Given the description of an element on the screen output the (x, y) to click on. 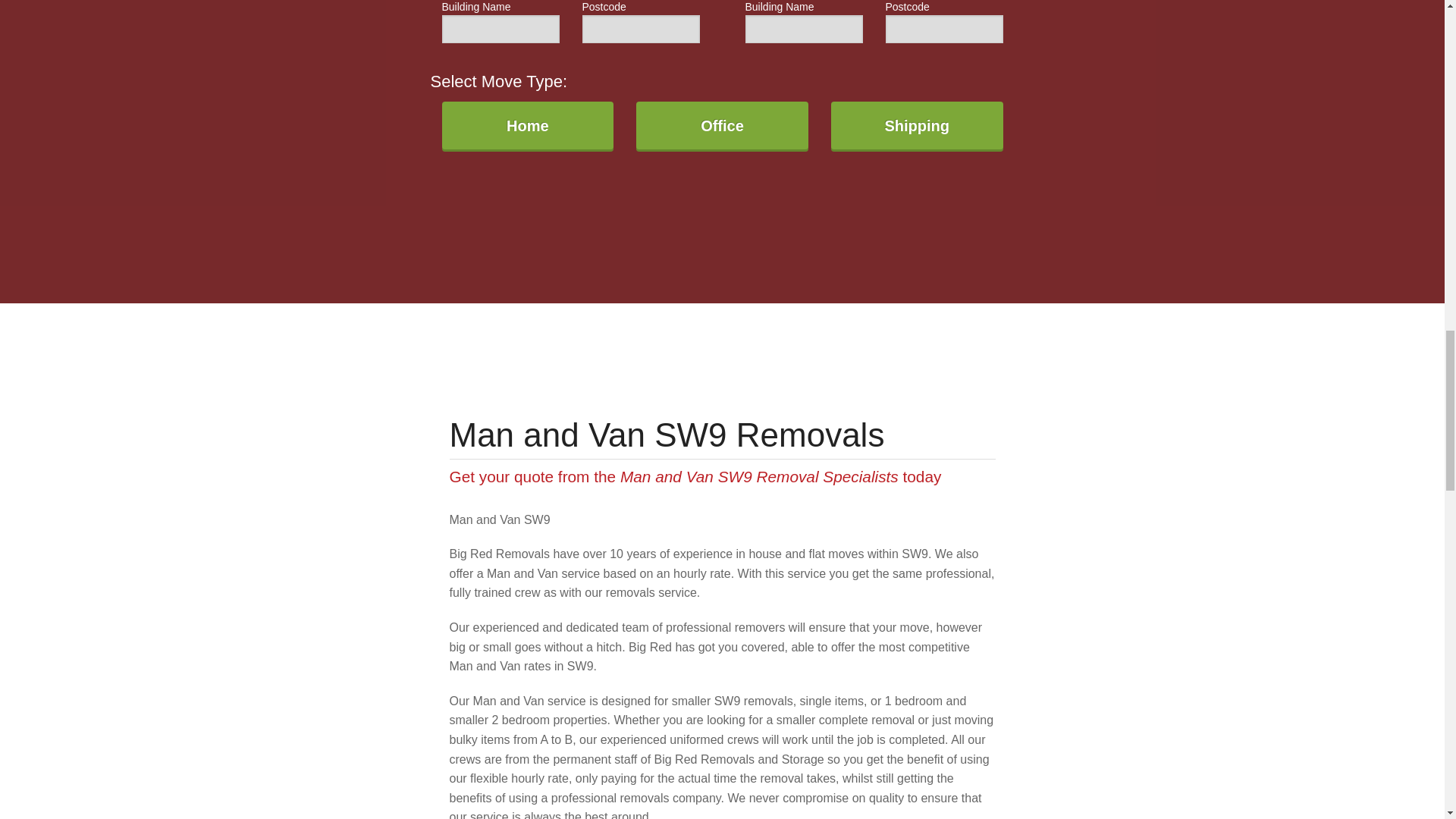
Office (722, 126)
Shipping (917, 126)
Home (526, 126)
